Given the description of an element on the screen output the (x, y) to click on. 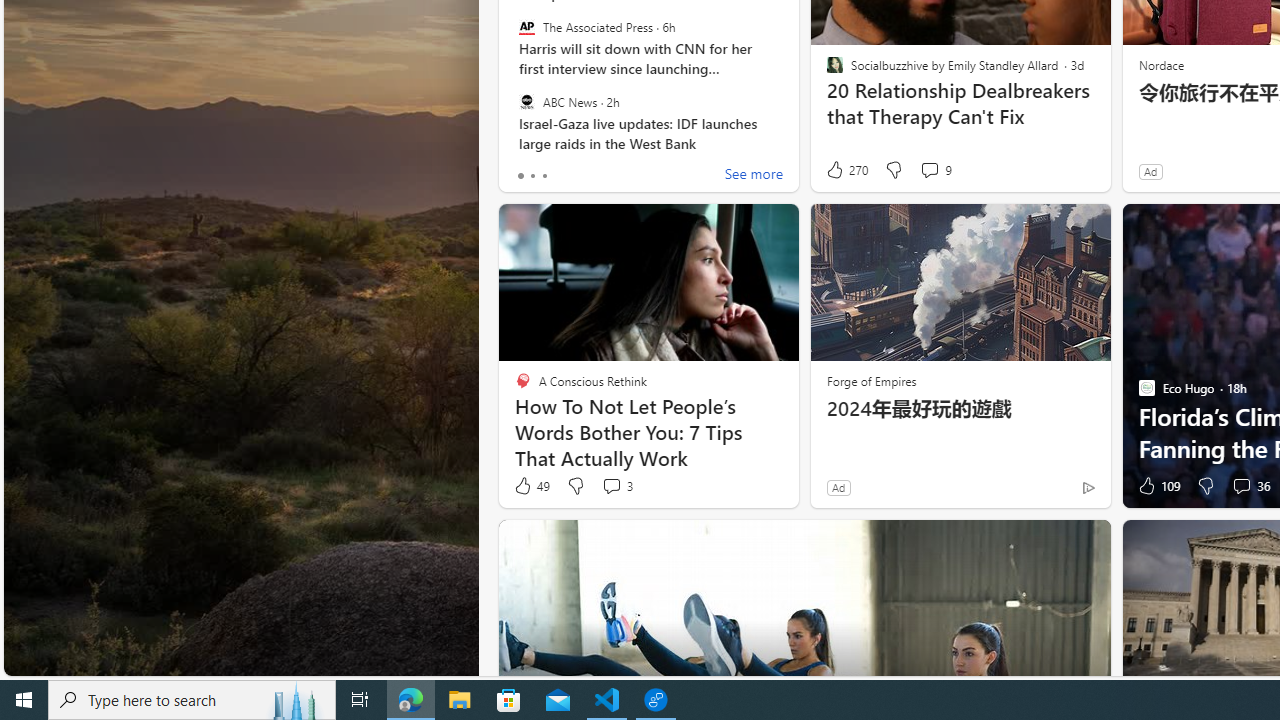
View comments 9 Comment (935, 170)
49 Like (531, 485)
View comments 36 Comment (1241, 485)
The Associated Press (526, 27)
109 Like (1157, 485)
View comments 3 Comment (611, 485)
270 Like (845, 170)
View comments 3 Comment (616, 485)
View comments 36 Comment (1249, 485)
Ad (838, 487)
tab-2 (543, 175)
Forge of Empires (870, 380)
tab-1 (532, 175)
